Given the description of an element on the screen output the (x, y) to click on. 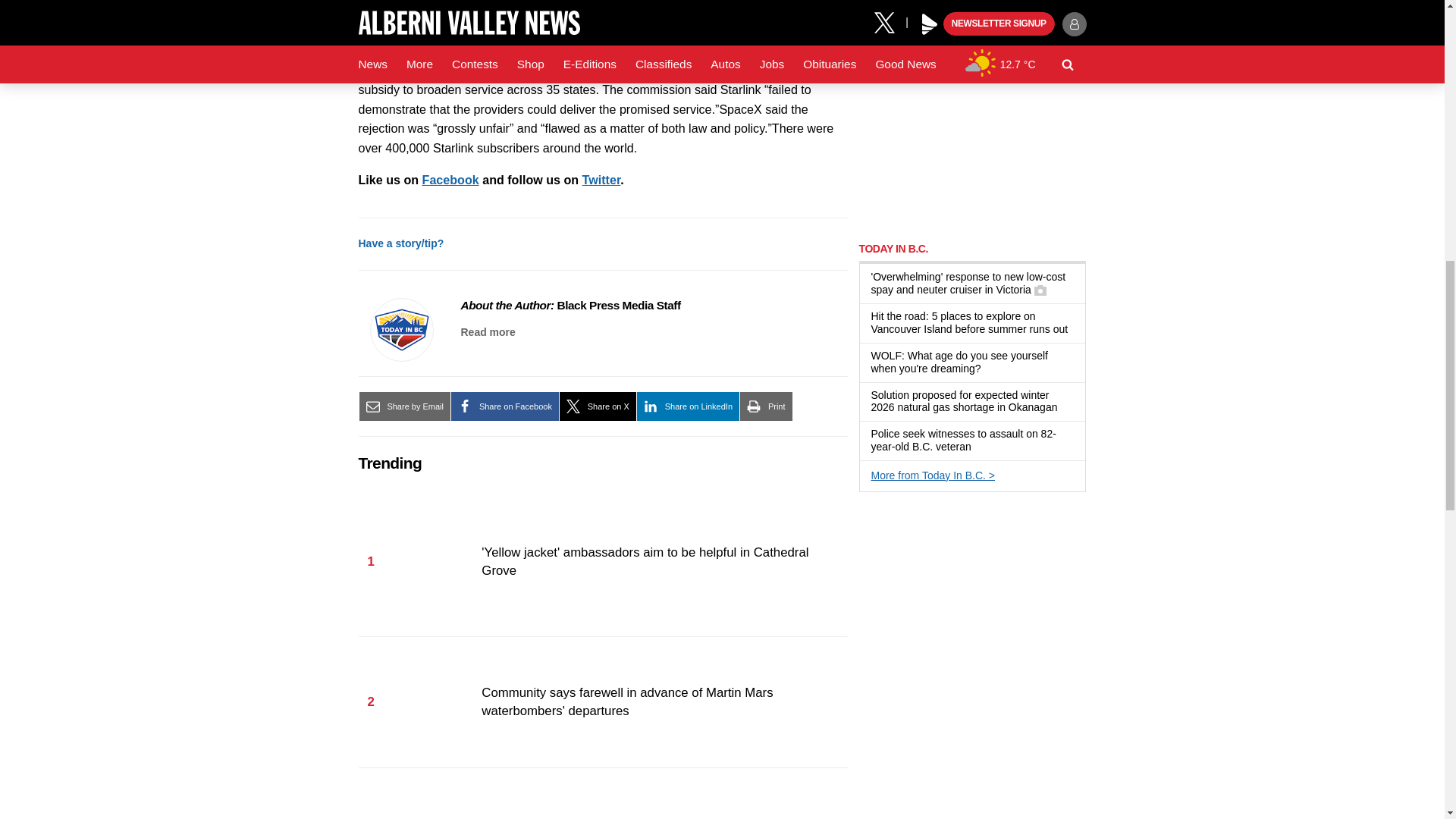
Has a gallery (1039, 290)
